Given the description of an element on the screen output the (x, y) to click on. 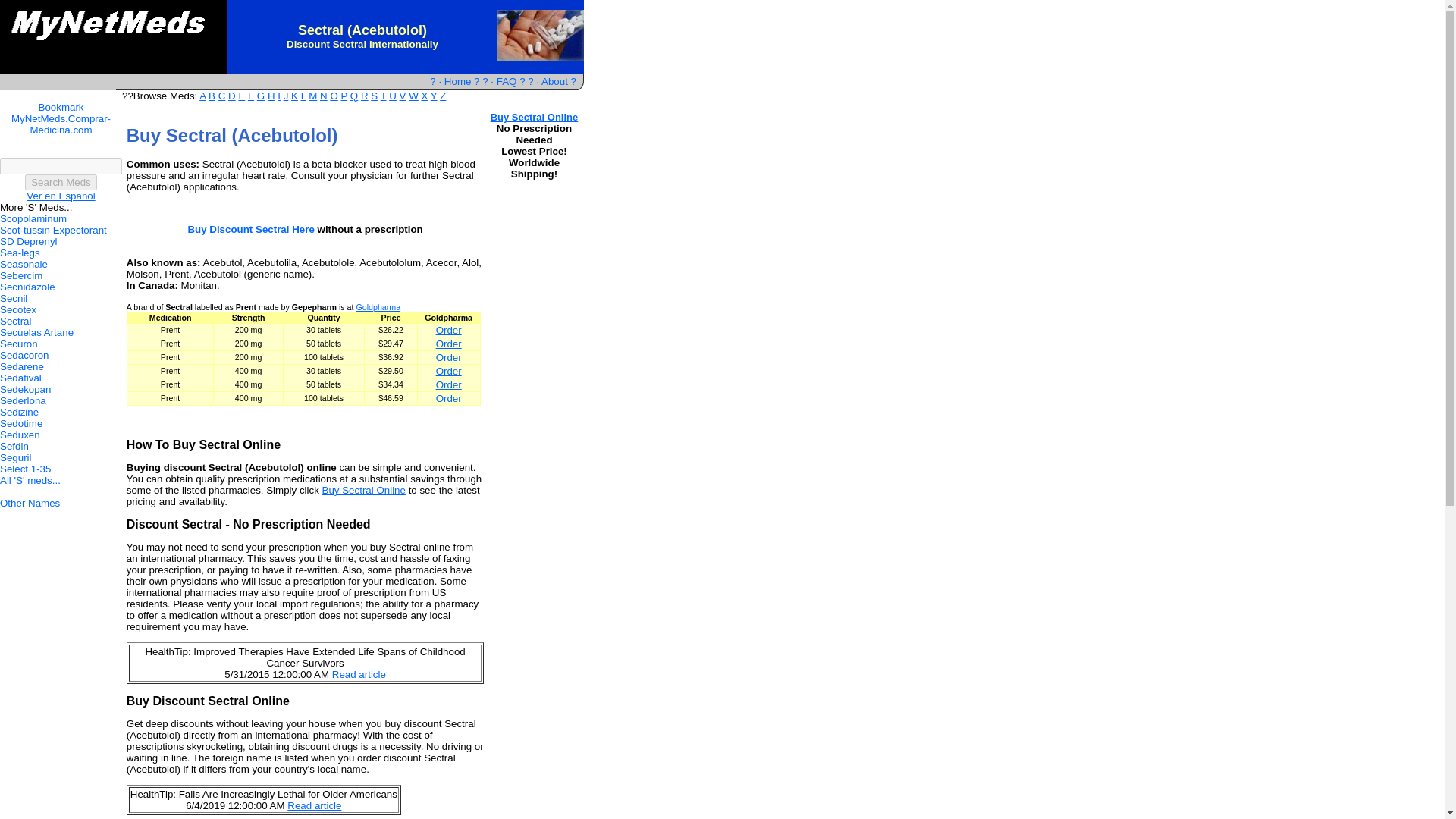
B (211, 95)
N (323, 95)
Buy Discount Sectral Here (250, 229)
C (221, 95)
U (392, 95)
L (303, 95)
T (383, 95)
Buy Sectral Online (363, 490)
I (279, 95)
Order (448, 357)
R (364, 95)
Order (448, 398)
Search Meds (60, 182)
Goldpharma (377, 307)
D (231, 95)
